Given the description of an element on the screen output the (x, y) to click on. 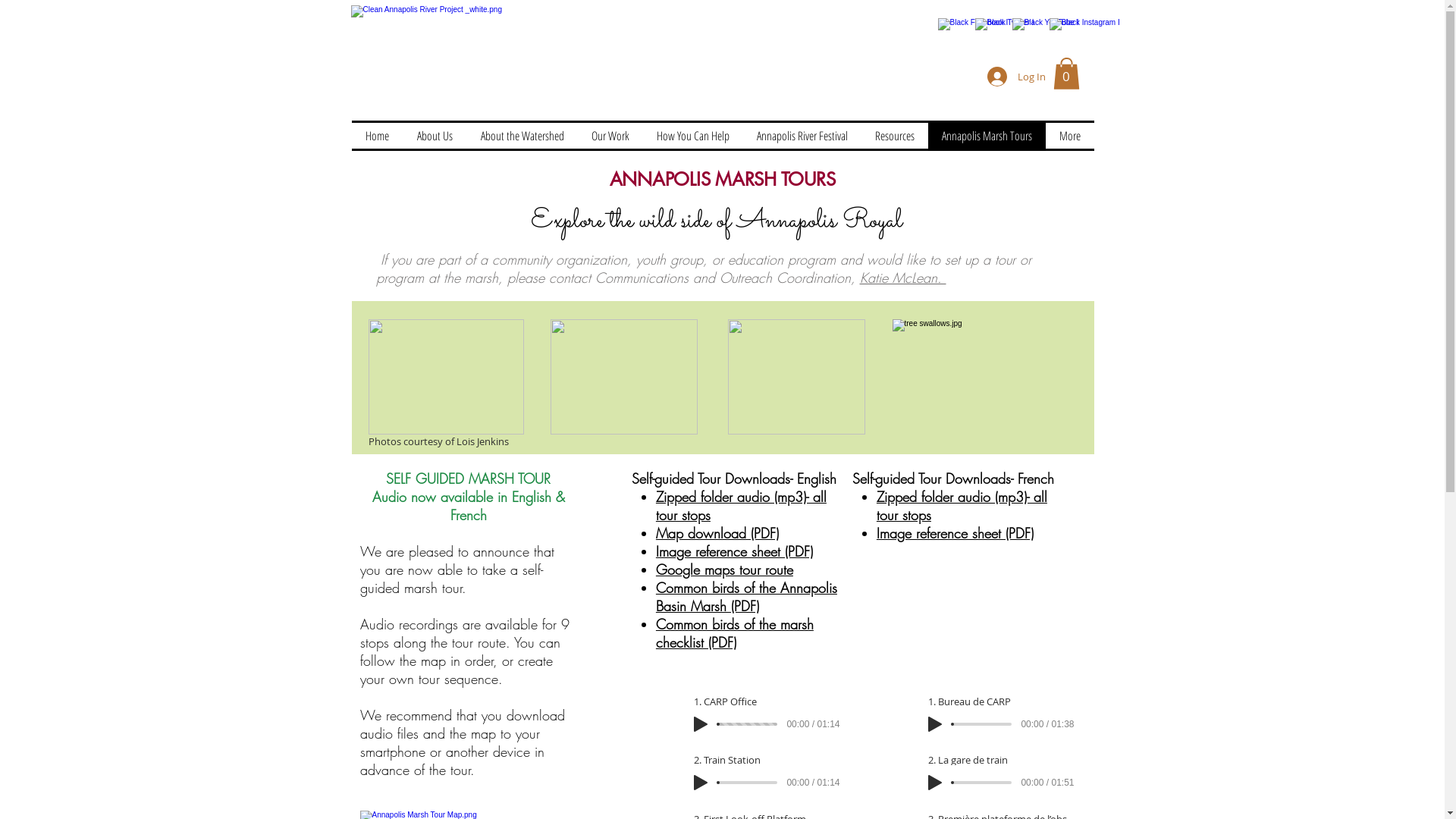
Map download (PDF) Element type: text (716, 533)
About Us Element type: text (435, 135)
Katie McLean.  Element type: text (902, 277)
Log In Element type: text (1016, 76)
Home Element type: text (377, 135)
Annapolis Marsh Tours Element type: text (986, 135)
Annapolis River Festival Element type: text (802, 135)
Image reference sheet (PDF) Element type: text (954, 533)
How You Can Help Element type: text (693, 135)
Common birds of the Annapolis Basin Marsh (PDF) Element type: text (746, 597)
Zipped folder audio (mp3)- all tour stops Element type: text (961, 506)
0 Element type: text (1065, 73)
Zipped folder audio (mp3)- all tour stops Element type: text (740, 506)
CARP logo w mission.png Element type: hover (504, 54)
Our Work Element type: text (610, 135)
Google maps tour route Element type: text (724, 569)
Resources Element type: text (894, 135)
Common birds of the marsh checklist (PDF) Element type: text (734, 633)
About the Watershed Element type: text (522, 135)
